Given the description of an element on the screen output the (x, y) to click on. 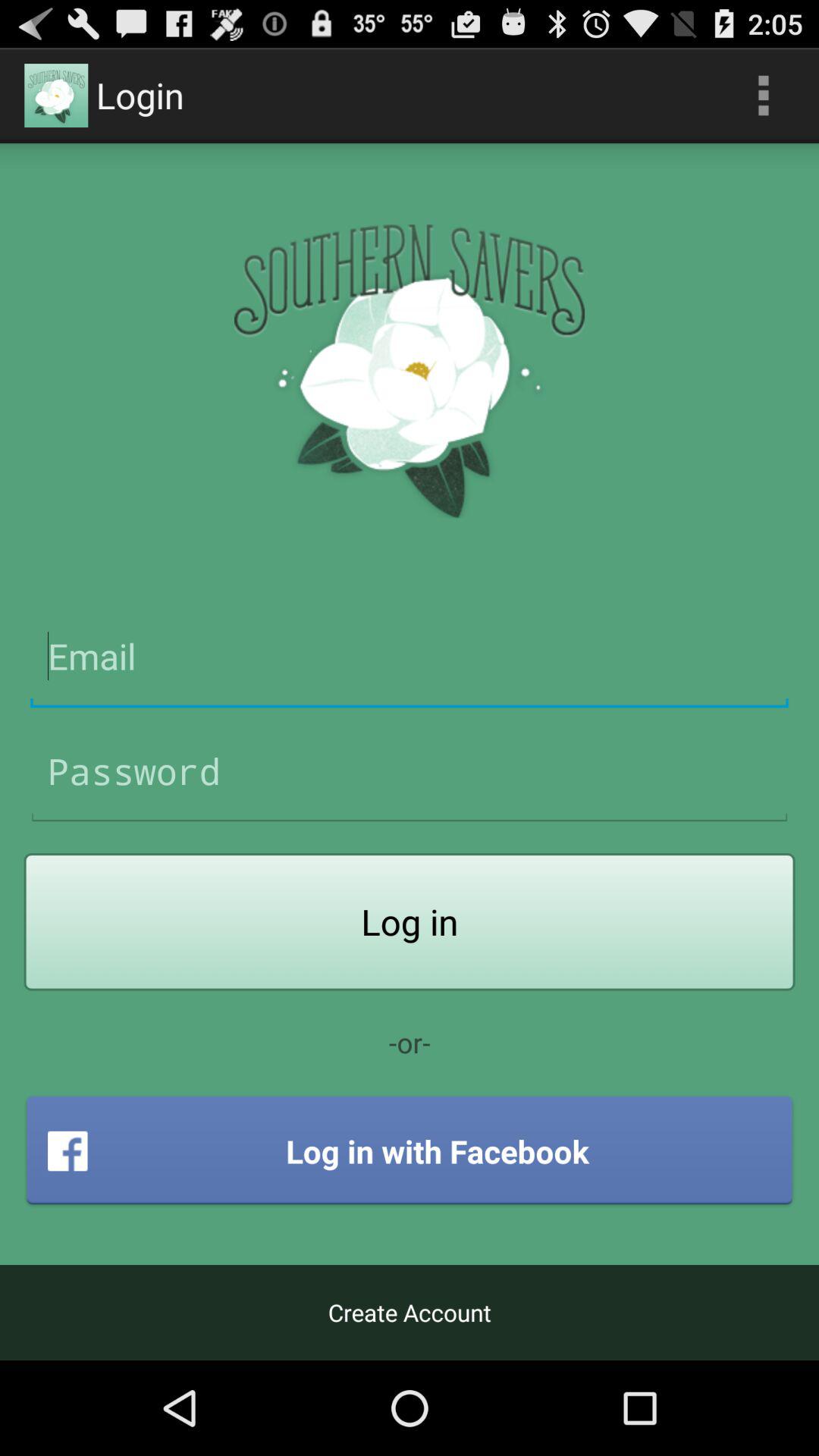
choose create account icon (409, 1312)
